Given the description of an element on the screen output the (x, y) to click on. 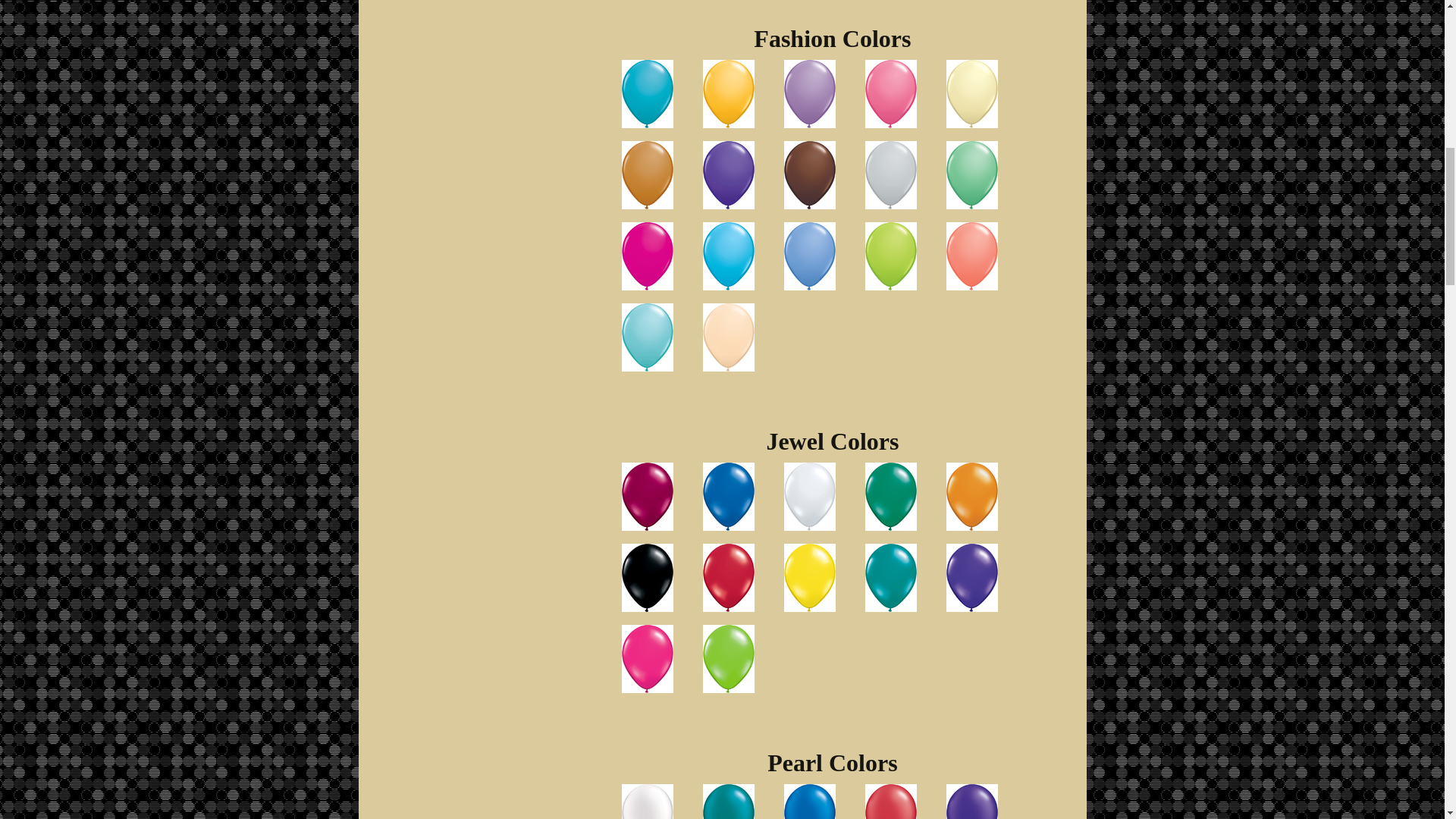
Spring Lilac (809, 93)
Ivory Silk (971, 93)
Rose (890, 93)
Mocha Brown (646, 174)
Wild Berry (646, 255)
Goldenrod (728, 93)
Gray (890, 174)
Chocolate Brown (809, 174)
Winter Green (971, 174)
Tropical Teal (646, 93)
Purple Violet (728, 174)
